Given the description of an element on the screen output the (x, y) to click on. 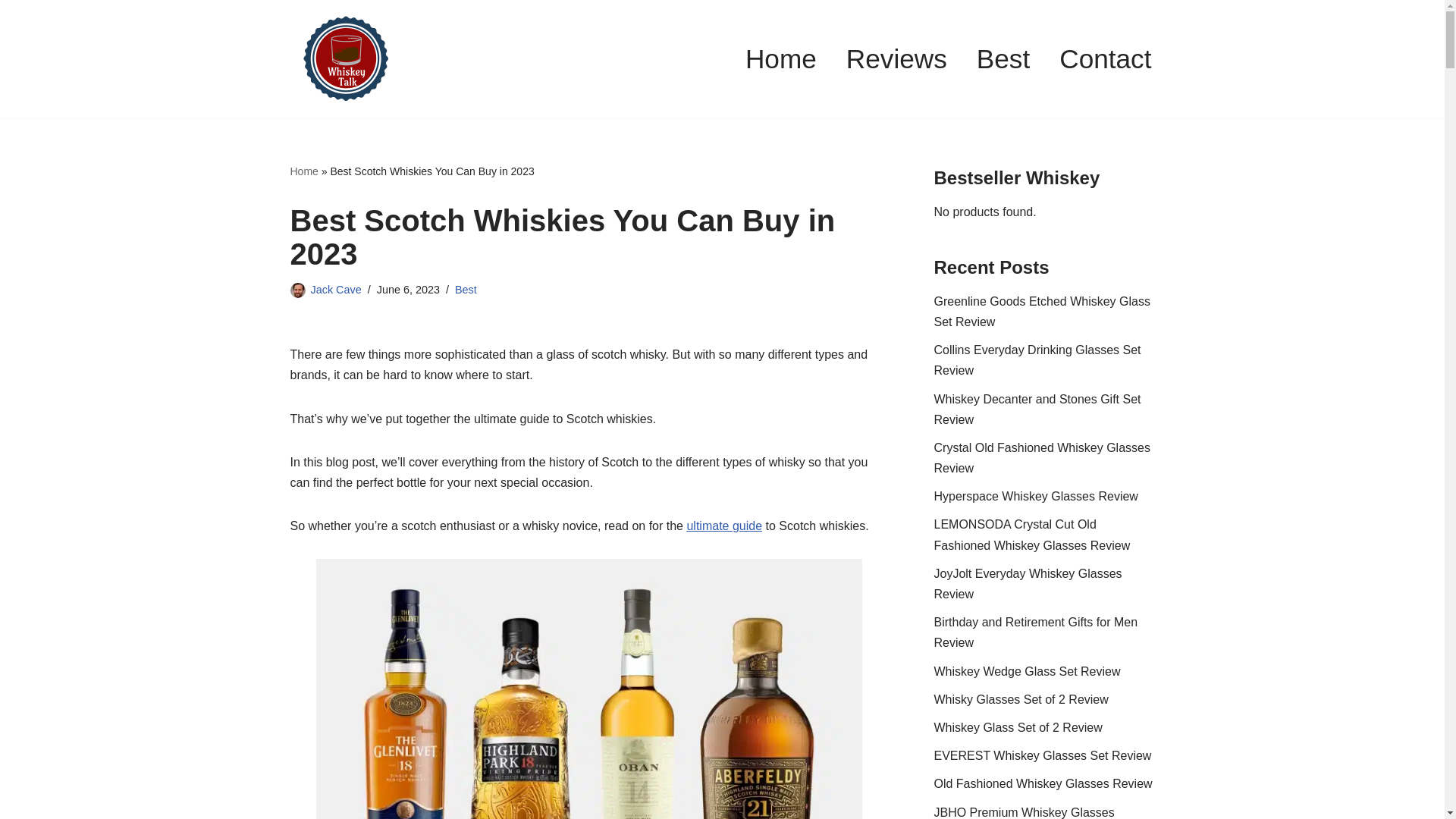
Home (780, 58)
Jack Cave (336, 289)
Home (303, 171)
ultimate guide (723, 525)
Best (1002, 58)
Best (465, 289)
Posts by Jack Cave (336, 289)
Reviews (896, 58)
Contact (1105, 58)
Skip to content (11, 31)
